Given the description of an element on the screen output the (x, y) to click on. 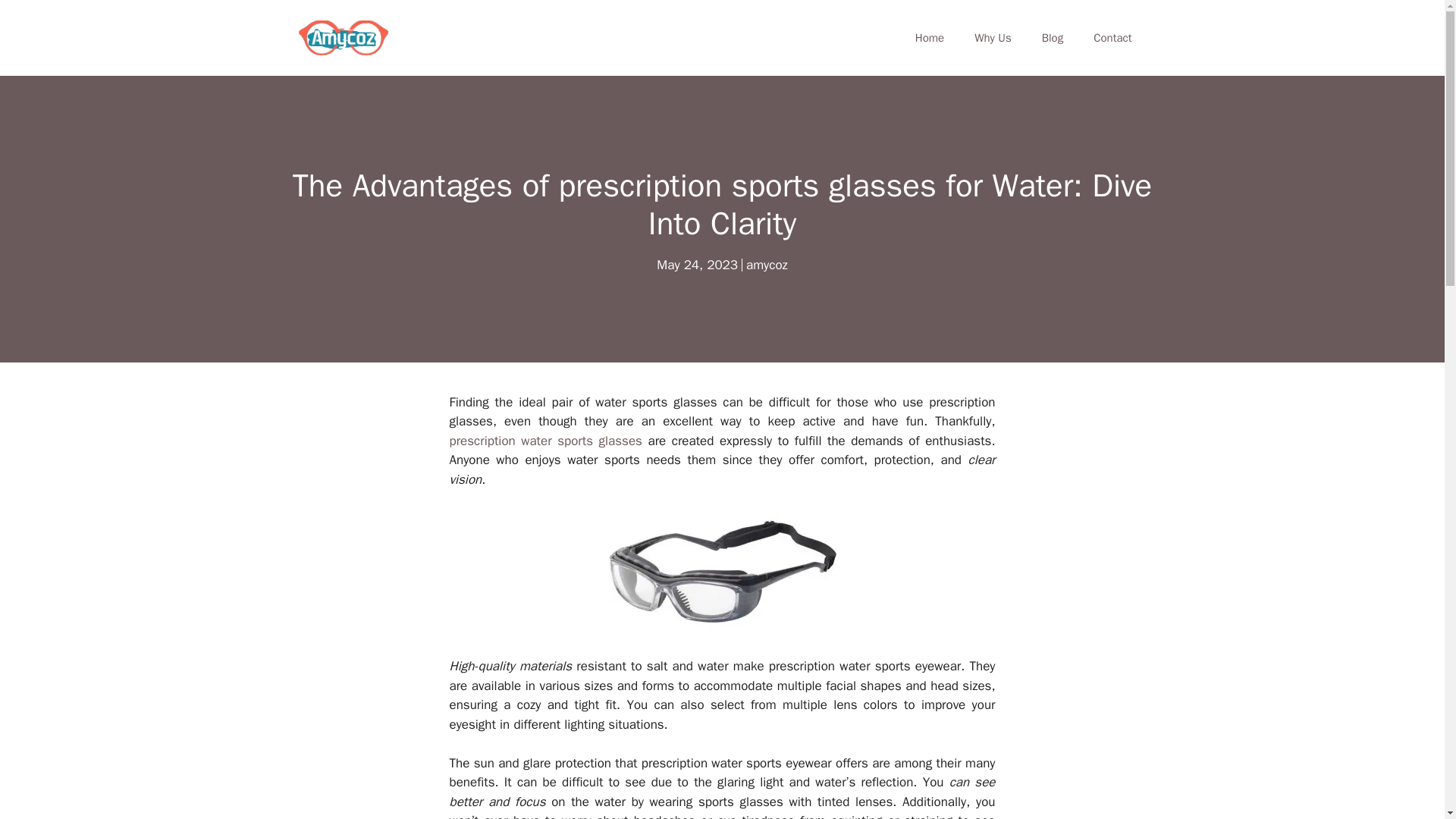
Home (929, 37)
amycoz (766, 264)
Why Us (992, 37)
Contact (1112, 37)
Blog (1052, 37)
prescription water sports glasses (545, 440)
